Given the description of an element on the screen output the (x, y) to click on. 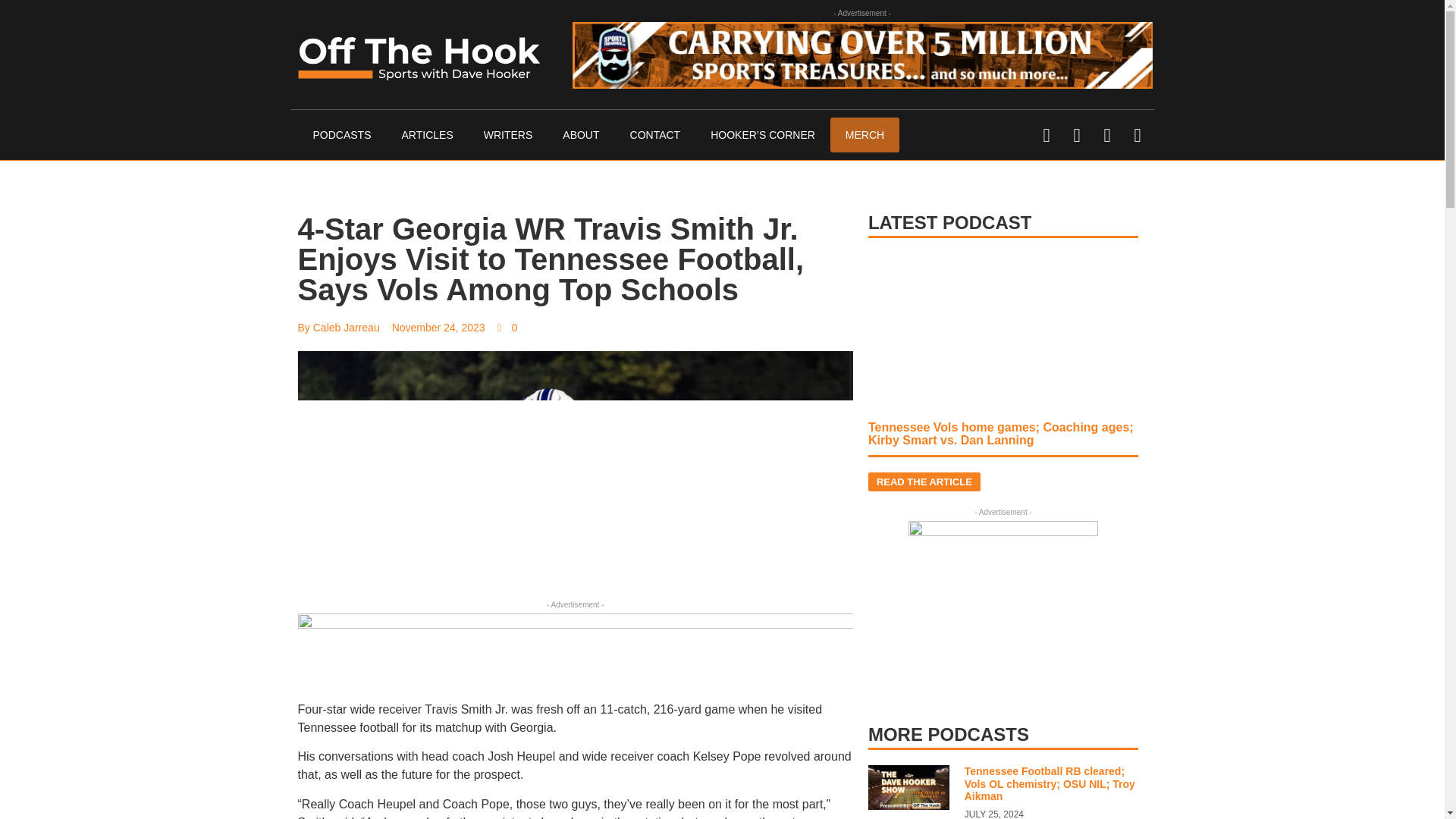
PODCASTS (341, 134)
ARTICLES (427, 134)
MERCH (864, 134)
WRITERS (508, 134)
CONTACT (654, 134)
ABOUT (580, 134)
